Given the description of an element on the screen output the (x, y) to click on. 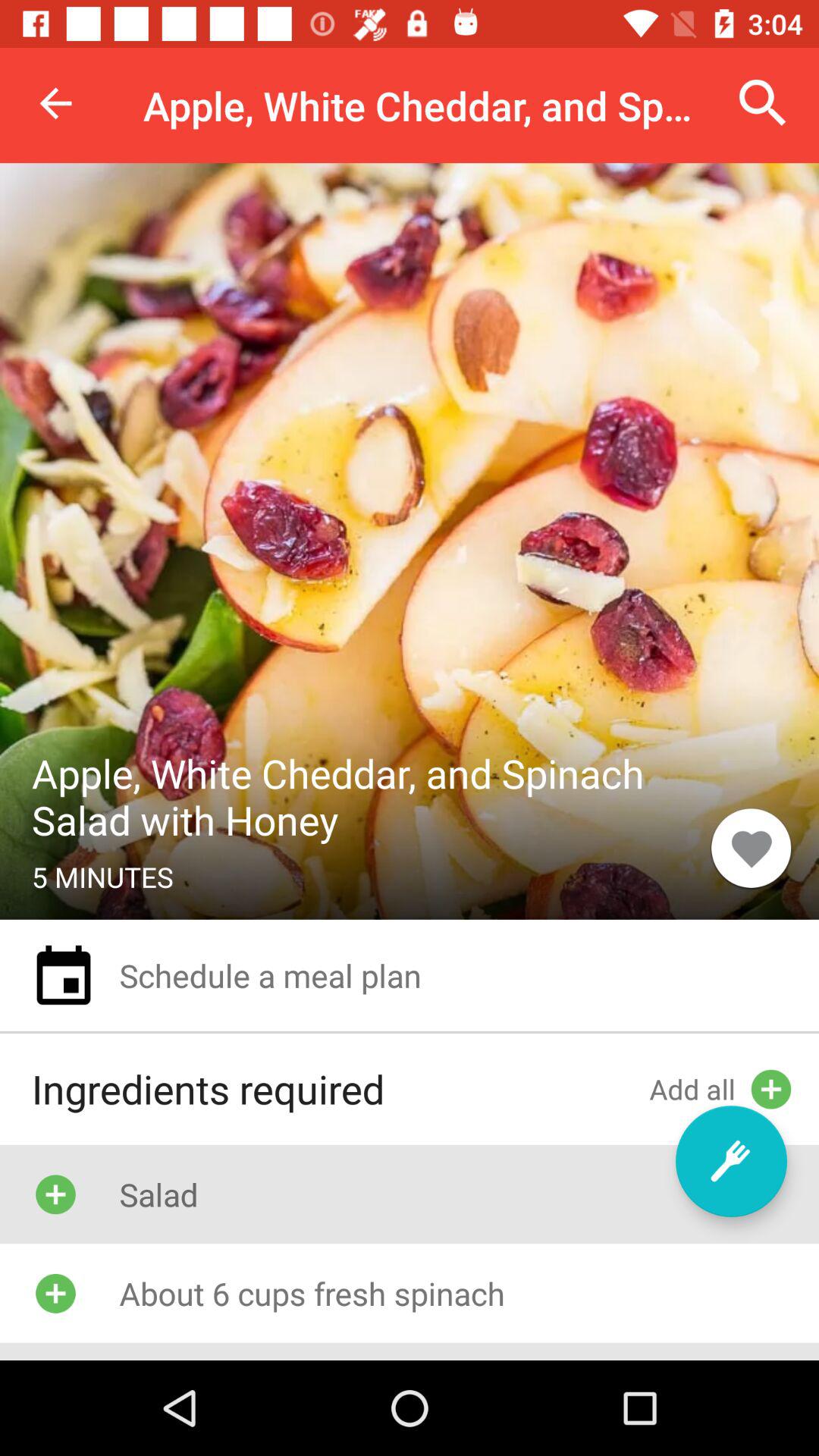
open item to the right of apple white cheddar (763, 103)
